Given the description of an element on the screen output the (x, y) to click on. 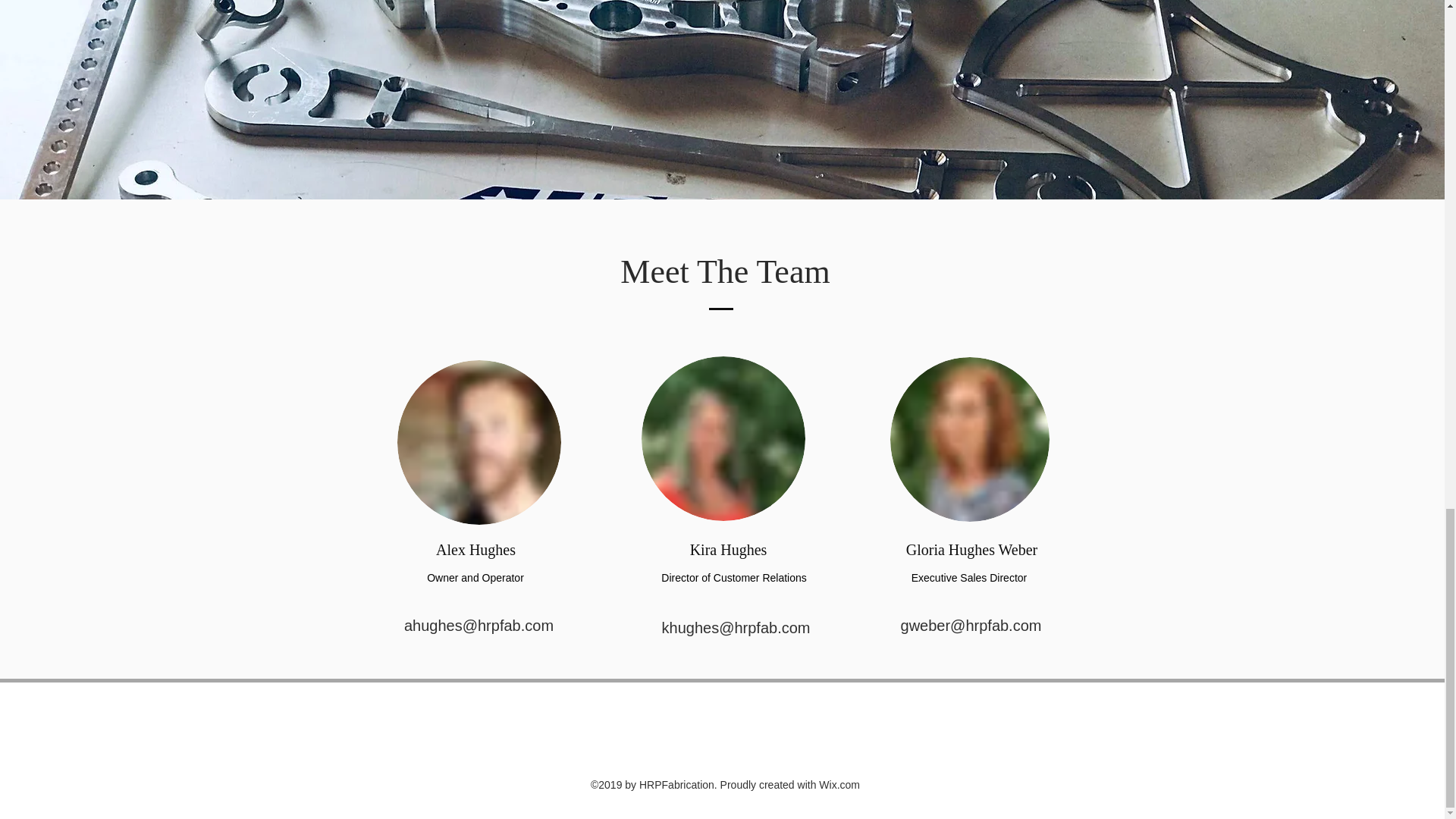
guy4.jpg (723, 438)
guy3.jpg (969, 439)
guy2.jpg (478, 442)
